Given the description of an element on the screen output the (x, y) to click on. 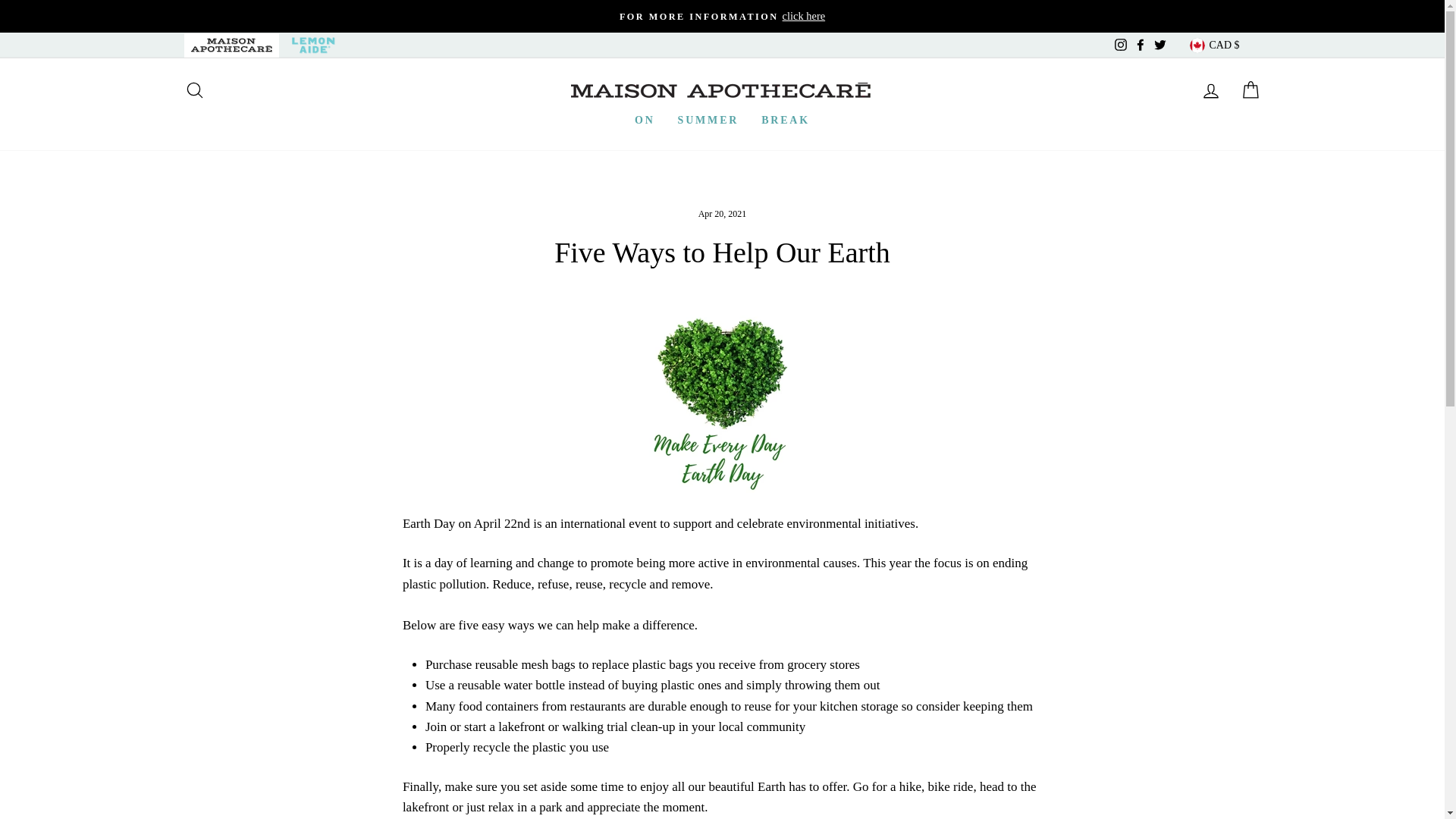
SEARCH (194, 89)
LOG IN (1210, 89)
CART (1249, 89)
ON (644, 120)
FOR MORE INFORMATIONclick here (722, 16)
